Given the description of an element on the screen output the (x, y) to click on. 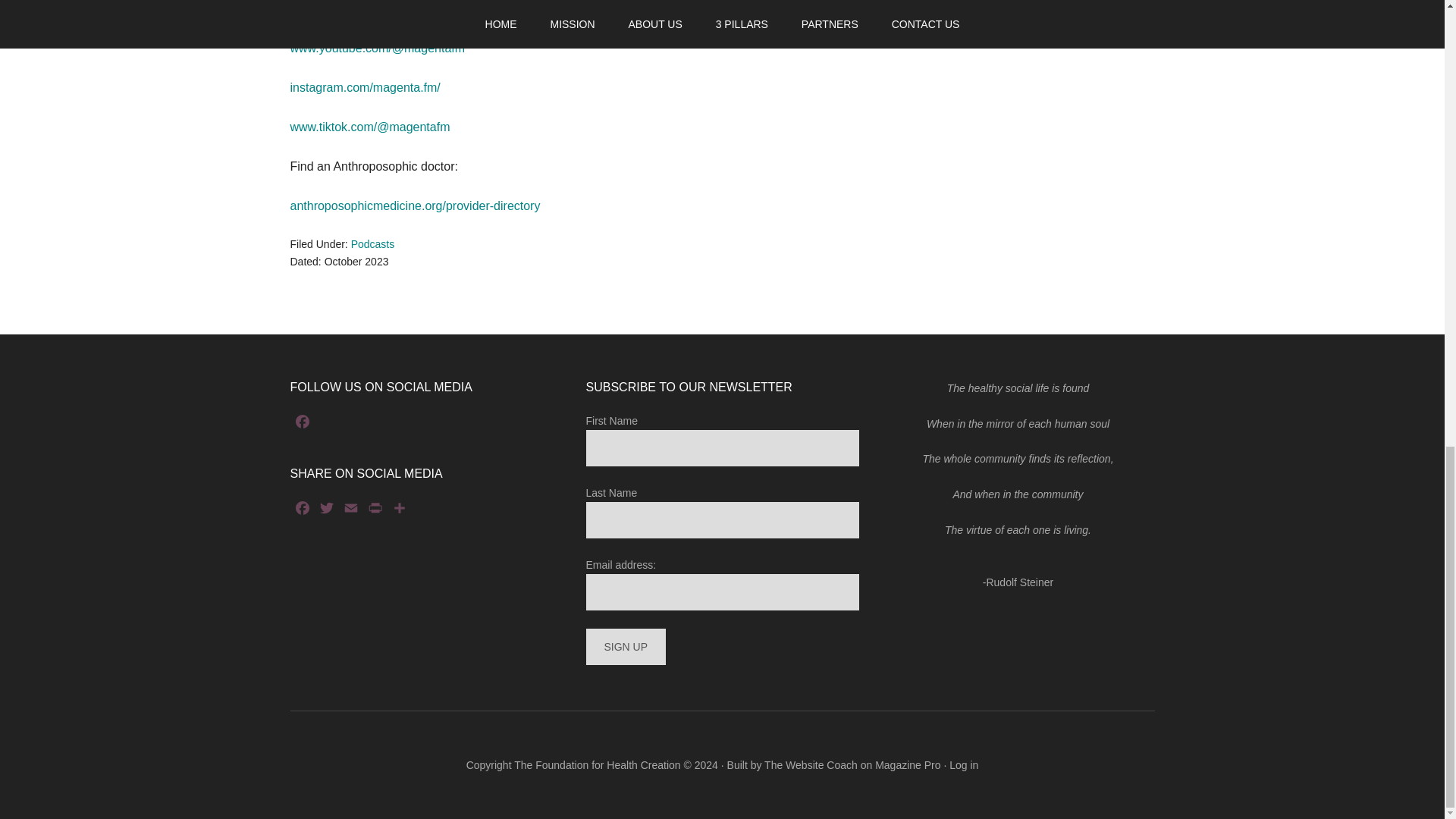
Email (349, 510)
Magazine Pro (907, 765)
Email (349, 510)
The Website Coach on (818, 765)
Twitter (325, 510)
PrintFriendly (374, 510)
Sign up (625, 646)
Facebook (301, 423)
Facebook (301, 510)
Sign up (625, 646)
Podcasts (372, 244)
Facebook (301, 423)
PrintFriendly (374, 510)
Facebook (301, 510)
Log in (963, 765)
